Given the description of an element on the screen output the (x, y) to click on. 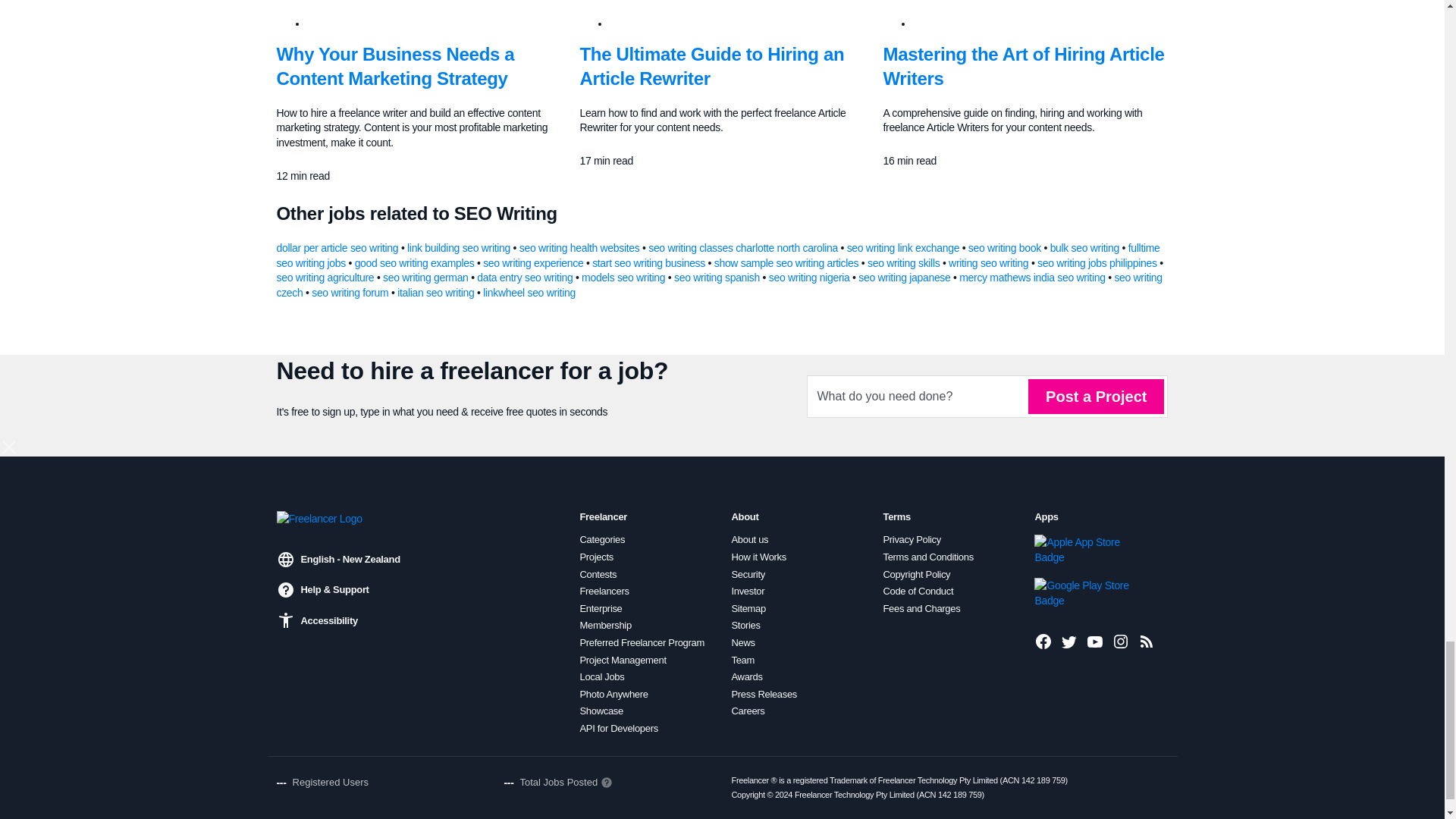
Freelancer on Twitter (1068, 641)
Freelancer on Youtube (1094, 641)
Freelancer on Facebook (1042, 641)
Freelancer on Instagram (1120, 641)
Get it on Google Play (1085, 593)
Latest Projects (1146, 641)
Download on the App Store (1085, 549)
